Given the description of an element on the screen output the (x, y) to click on. 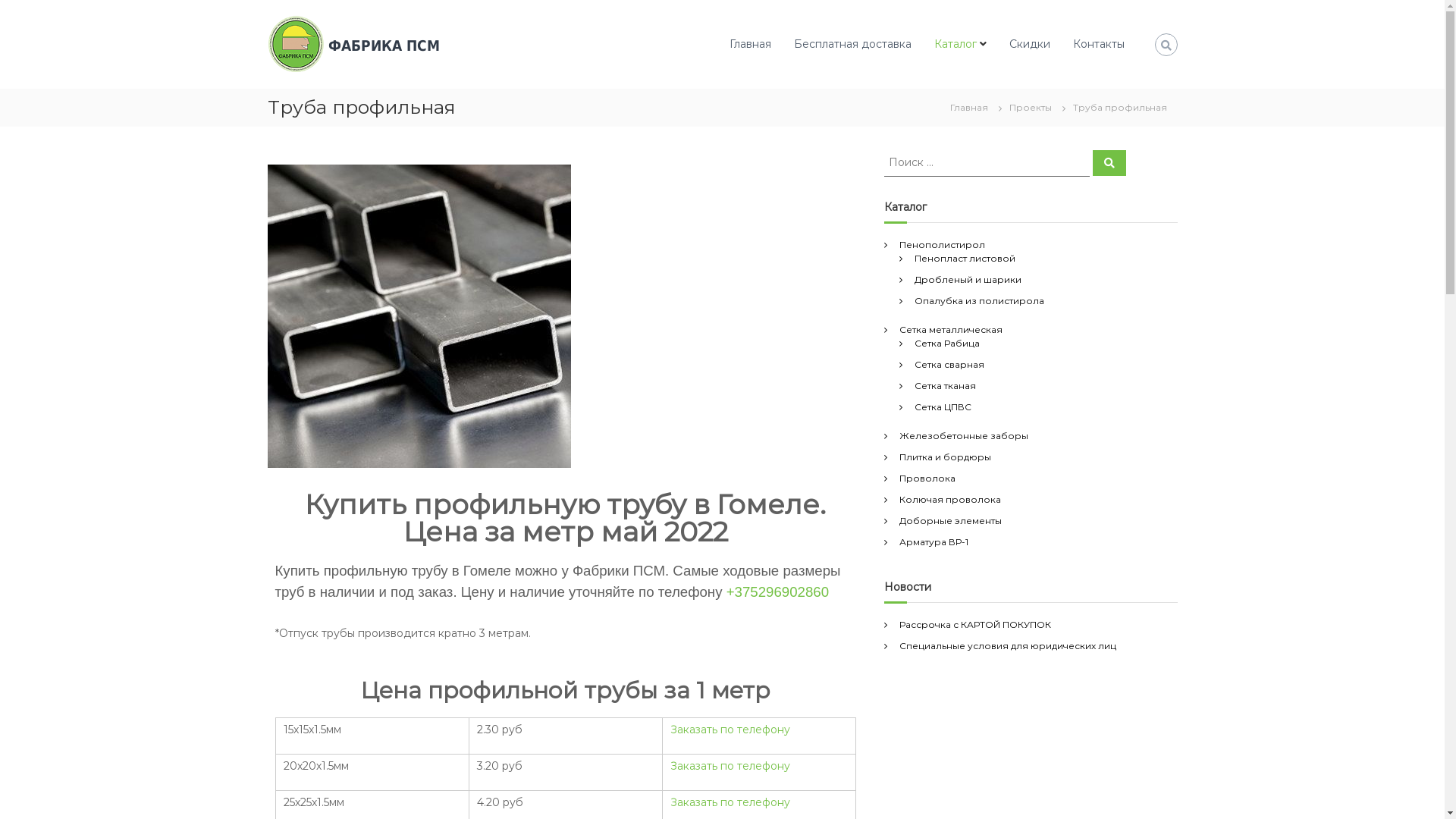
+375296902860 Element type: text (777, 591)
